Given the description of an element on the screen output the (x, y) to click on. 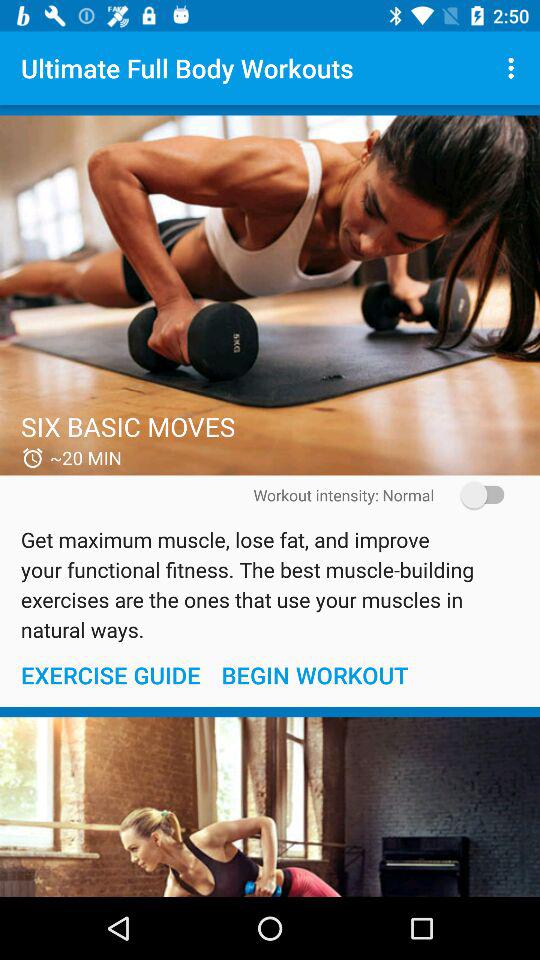
picture space display (270, 807)
